Given the description of an element on the screen output the (x, y) to click on. 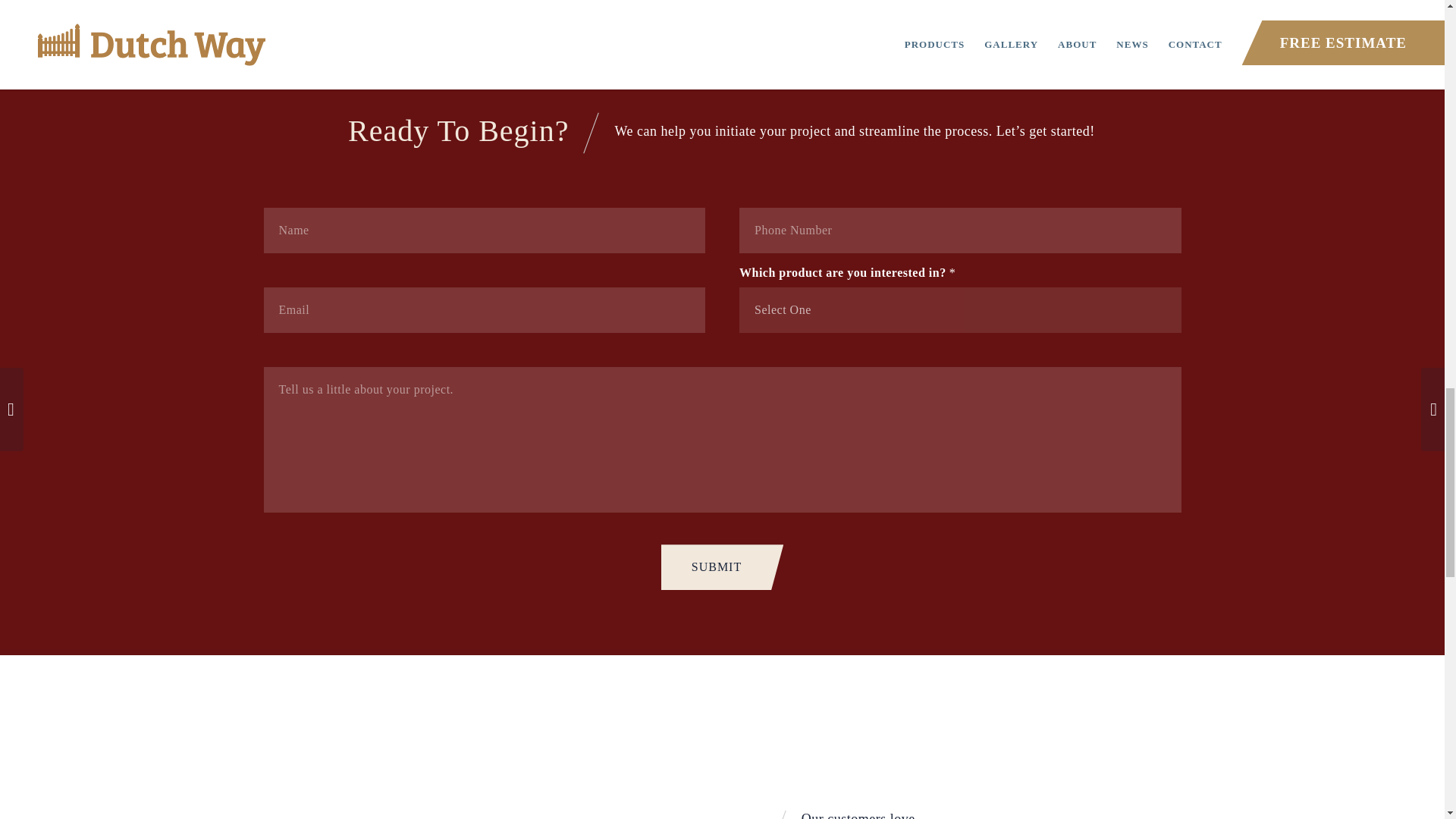
Submit (722, 566)
